Given the description of an element on the screen output the (x, y) to click on. 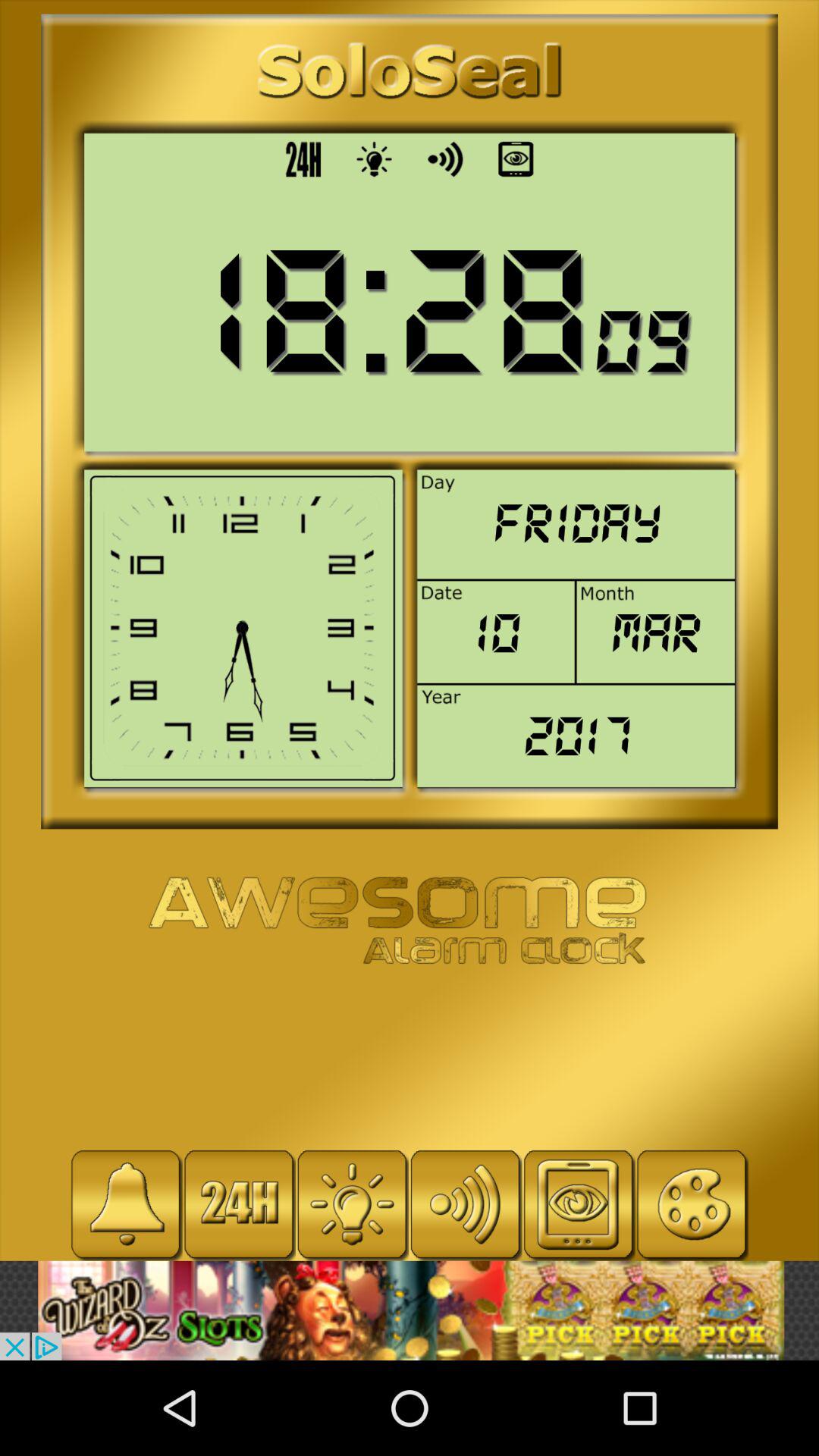
toggle the bell option (125, 1203)
